Given the description of an element on the screen output the (x, y) to click on. 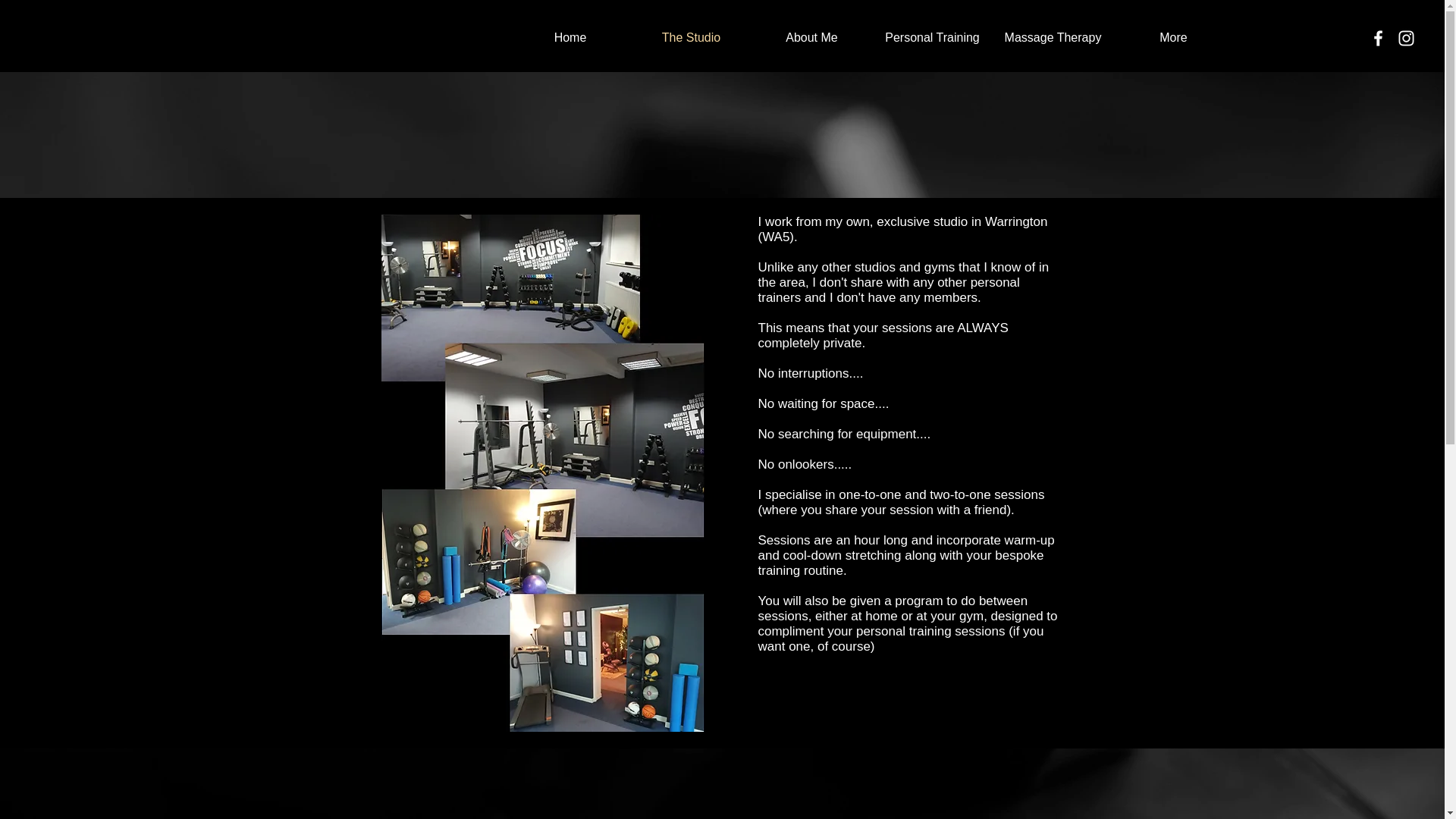
Massage Therapy (1052, 37)
The Studio (690, 37)
About Me (811, 37)
Home (569, 37)
Personal Training (932, 37)
